Given the description of an element on the screen output the (x, y) to click on. 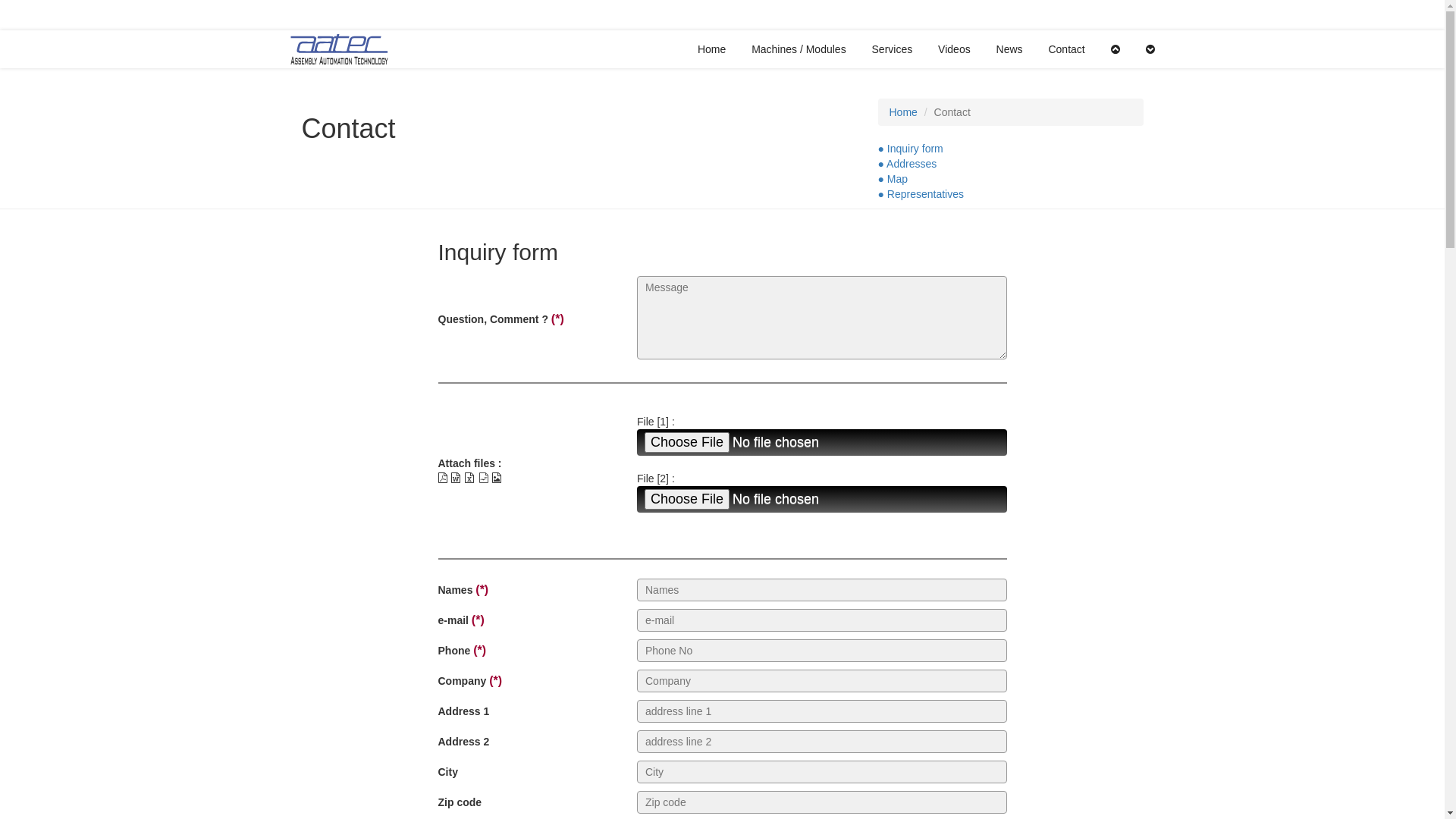
News Element type: text (1009, 49)
Home Element type: text (711, 49)
info@aatec.ch Element type: text (1109, 15)
Videos Element type: text (954, 49)
Machines / Modules Element type: text (798, 49)
Services Element type: text (892, 49)
Contact Element type: text (1065, 49)
+41 (0)32 566 10 91 Element type: text (1003, 15)
Home Element type: text (902, 112)
